Given the description of an element on the screen output the (x, y) to click on. 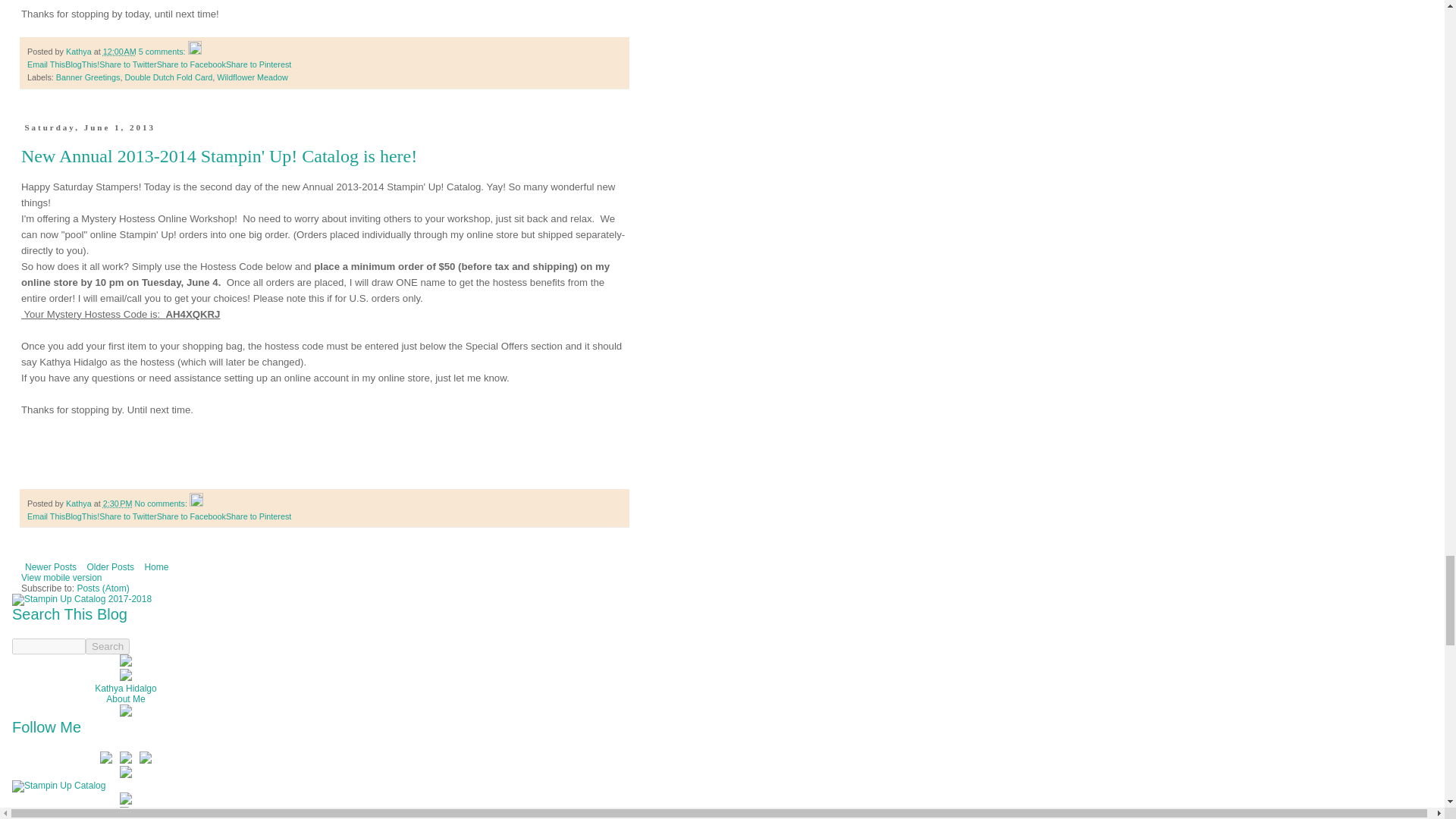
Search (107, 646)
Search (107, 646)
